Given the description of an element on the screen output the (x, y) to click on. 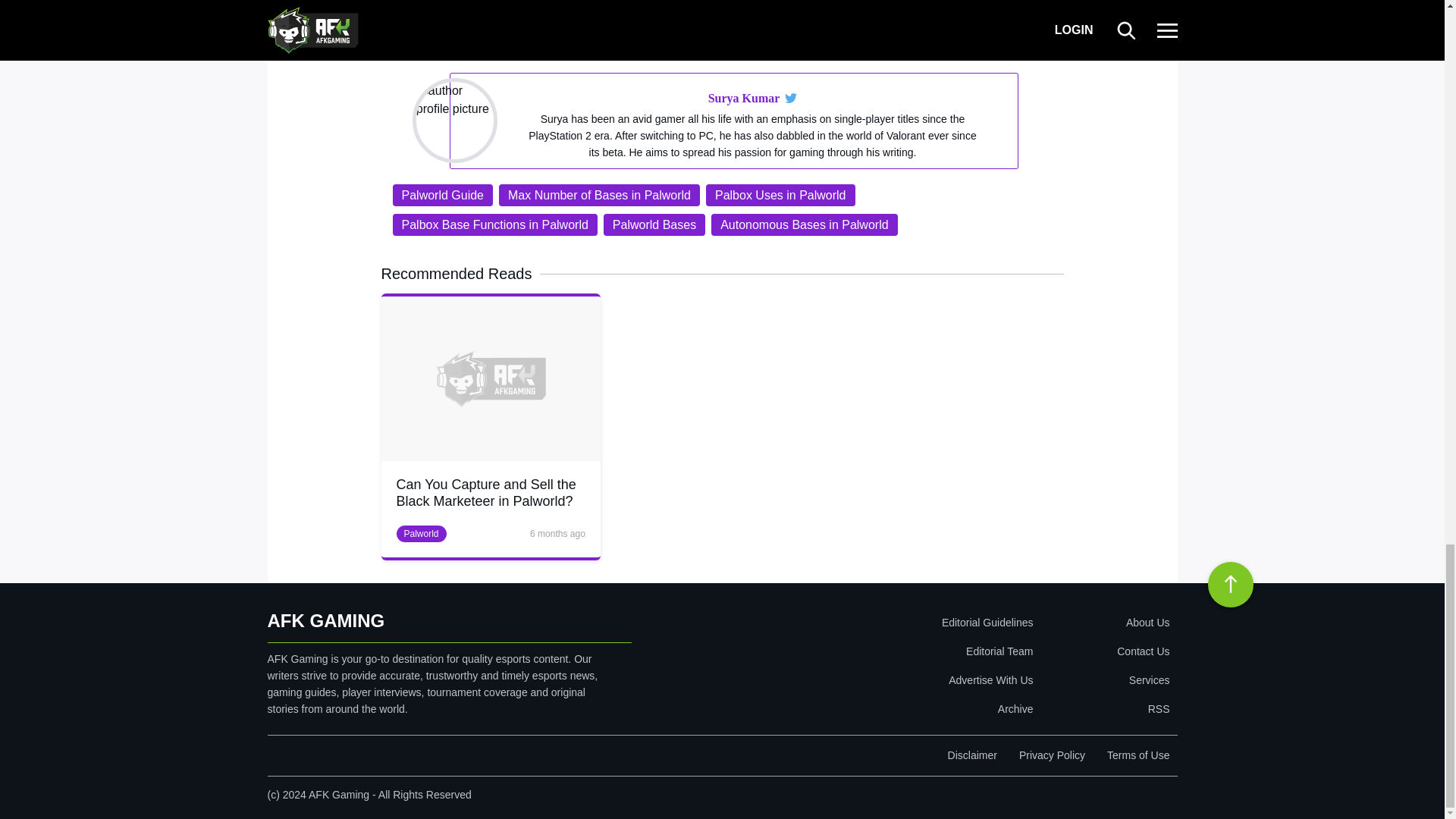
Terms of Use (1137, 755)
Services (1105, 680)
Advertise With Us (899, 680)
Autonomous Bases in Palworld (803, 224)
Archive (899, 708)
Disclaimer (972, 755)
Max Number of Bases in Palworld (599, 195)
Palworld Bases (654, 224)
Surya Kumar (743, 98)
